Given the description of an element on the screen output the (x, y) to click on. 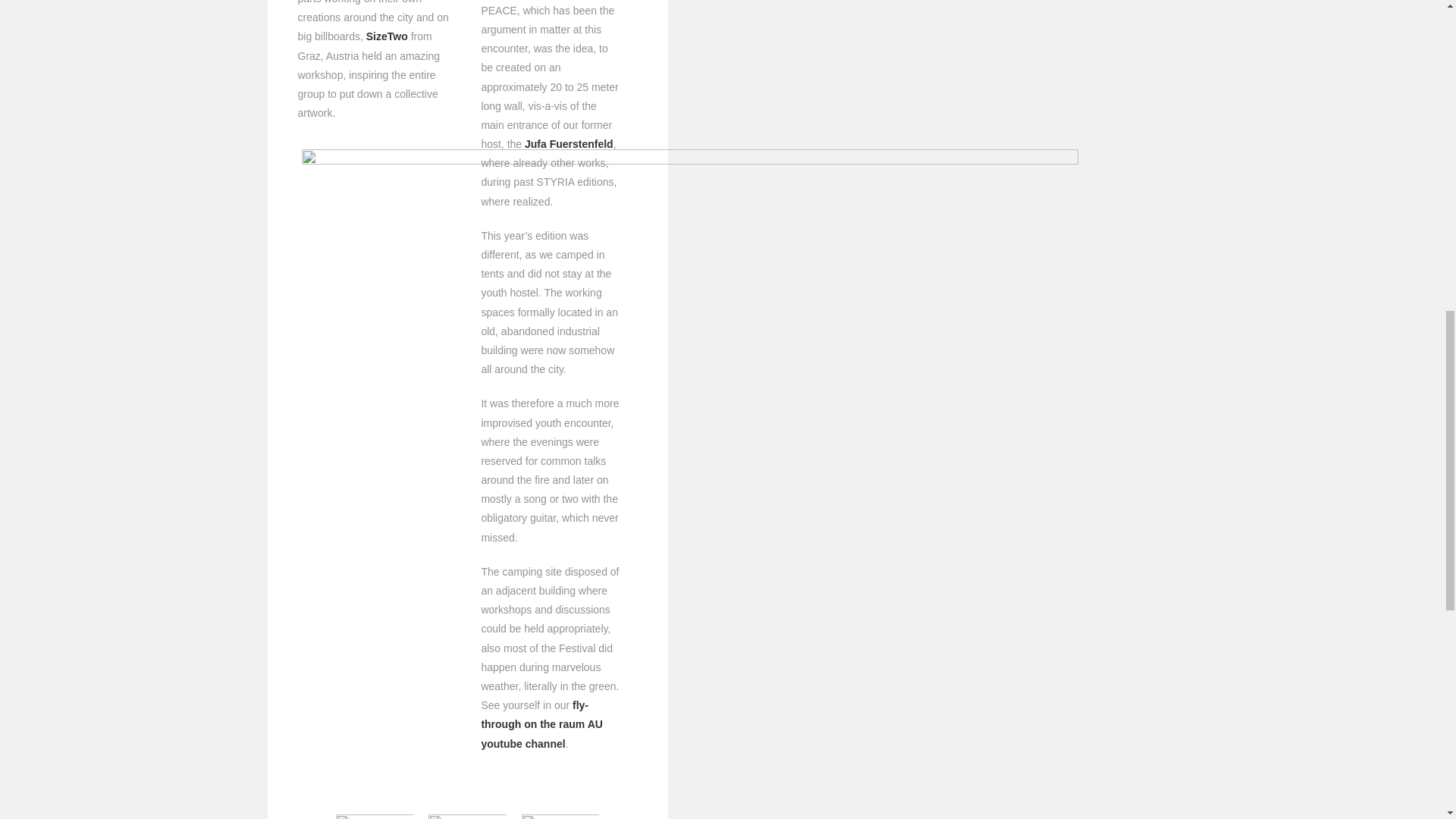
Jufa Fuerstenfeld (568, 143)
SizeTwo (386, 36)
fly-through on the raum AU youtube channel (541, 724)
